Given the description of an element on the screen output the (x, y) to click on. 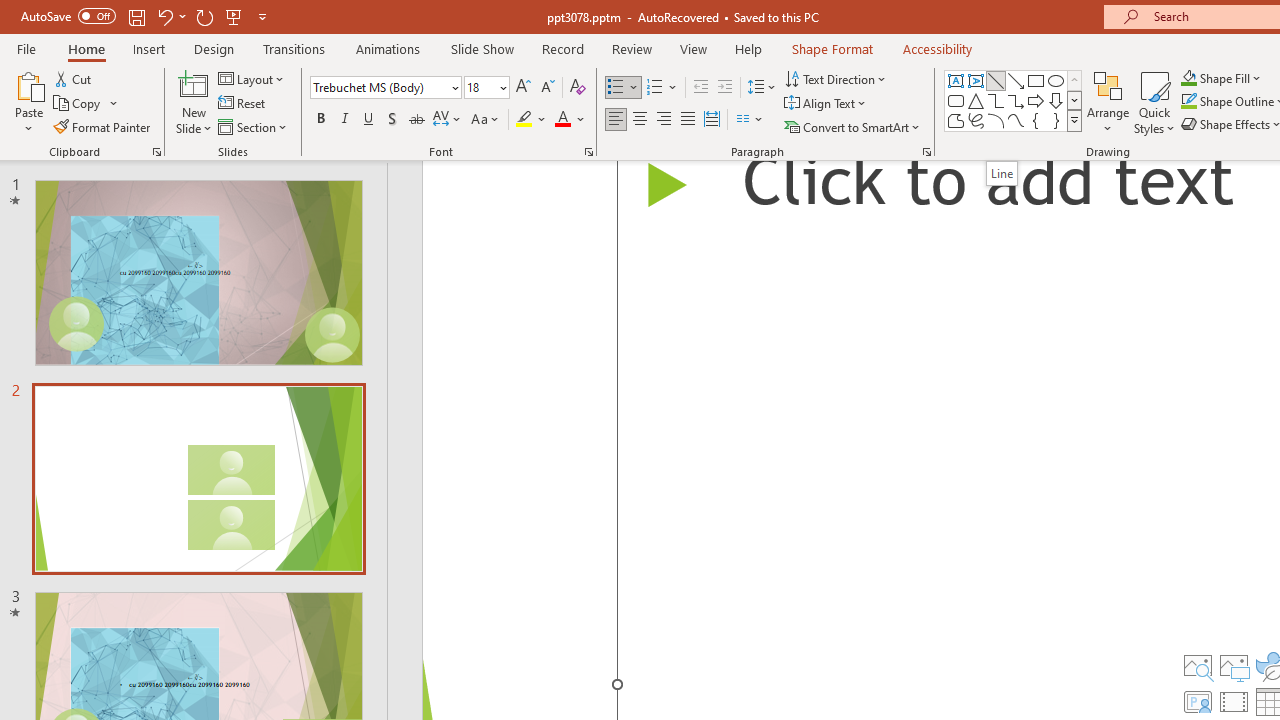
Font... (588, 151)
Rectangle (1035, 80)
Bold (320, 119)
Arrow: Right (1035, 100)
Text Direction (836, 78)
Text Highlight Color Yellow (524, 119)
Freeform: Scribble (975, 120)
Shape Format (832, 48)
Shadow (392, 119)
Office Clipboard... (156, 151)
Line Spacing (762, 87)
Left Brace (1035, 120)
Font Color (569, 119)
Clear Formatting (577, 87)
